Given the description of an element on the screen output the (x, y) to click on. 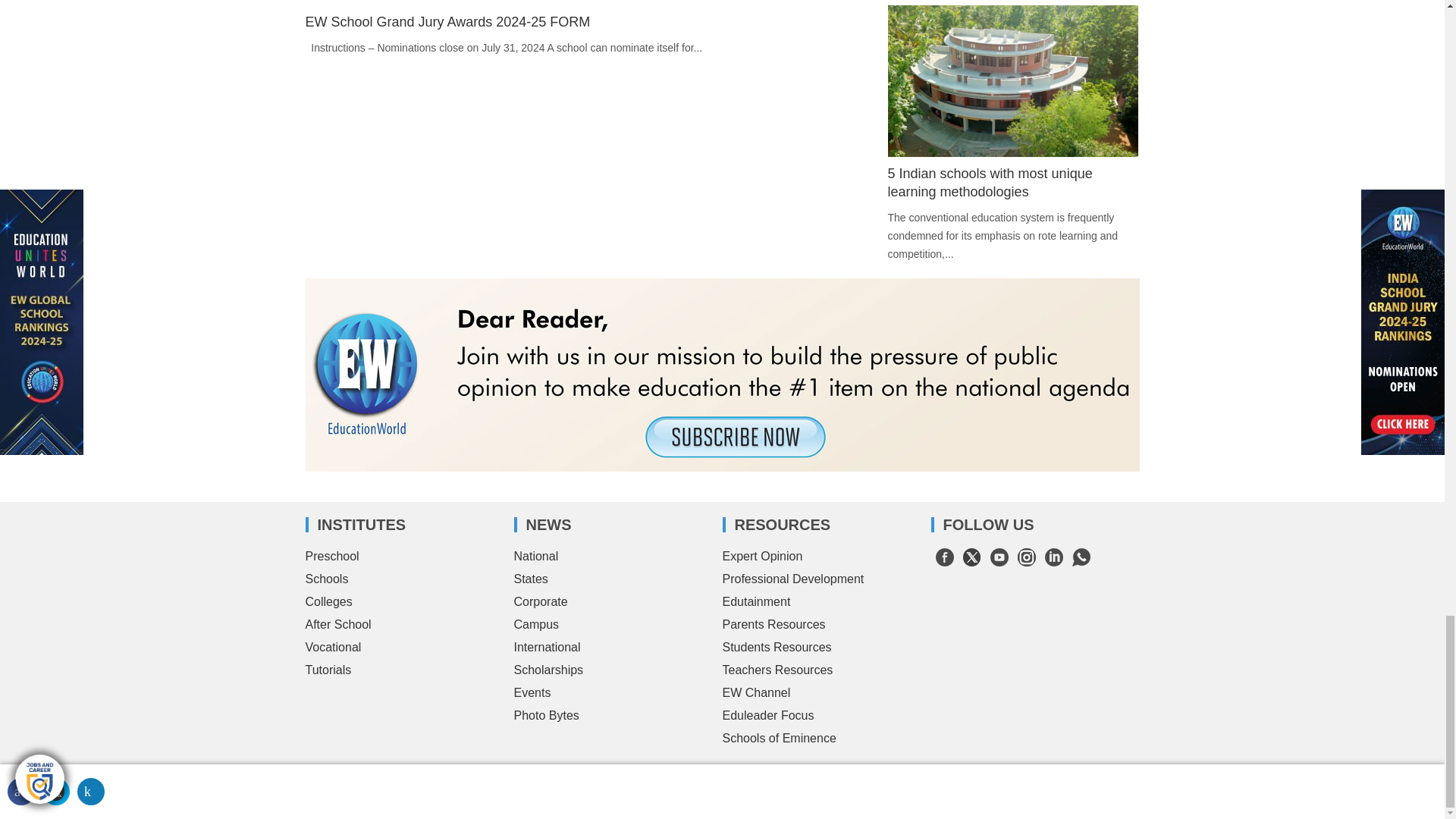
EducationWorld (387, 775)
